Given the description of an element on the screen output the (x, y) to click on. 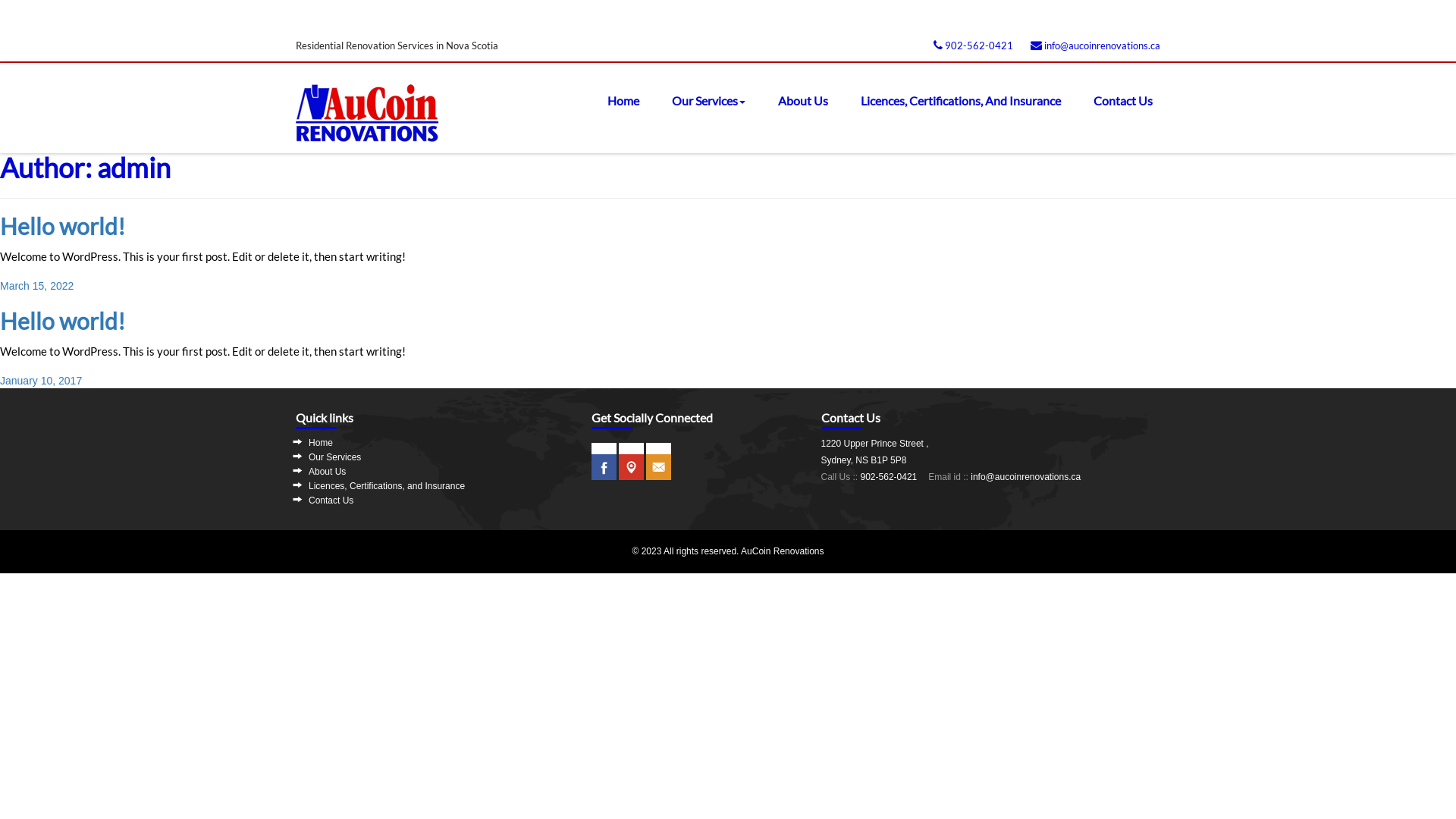
Home Element type: text (615, 111)
Licences, Certifications, And Insurance Element type: text (952, 111)
About Us Element type: text (795, 111)
March 15, 2022 Element type: text (36, 285)
902-562-0421 Element type: text (973, 45)
Contact Us Element type: text (1115, 111)
Hello world! Element type: text (62, 320)
Our Services Element type: text (334, 456)
Hello world! Element type: text (62, 225)
902-562-0421 Element type: text (888, 476)
About Us Element type: text (326, 471)
Licences, Certifications, and Insurance Element type: text (386, 485)
info@aucoinrenovations.ca Element type: text (1095, 45)
January 10, 2017 Element type: text (40, 380)
Home Element type: text (320, 442)
Contact Us Element type: text (330, 500)
info@aucoinrenovations.ca Element type: text (1025, 476)
Our Services Element type: text (701, 111)
